Given the description of an element on the screen output the (x, y) to click on. 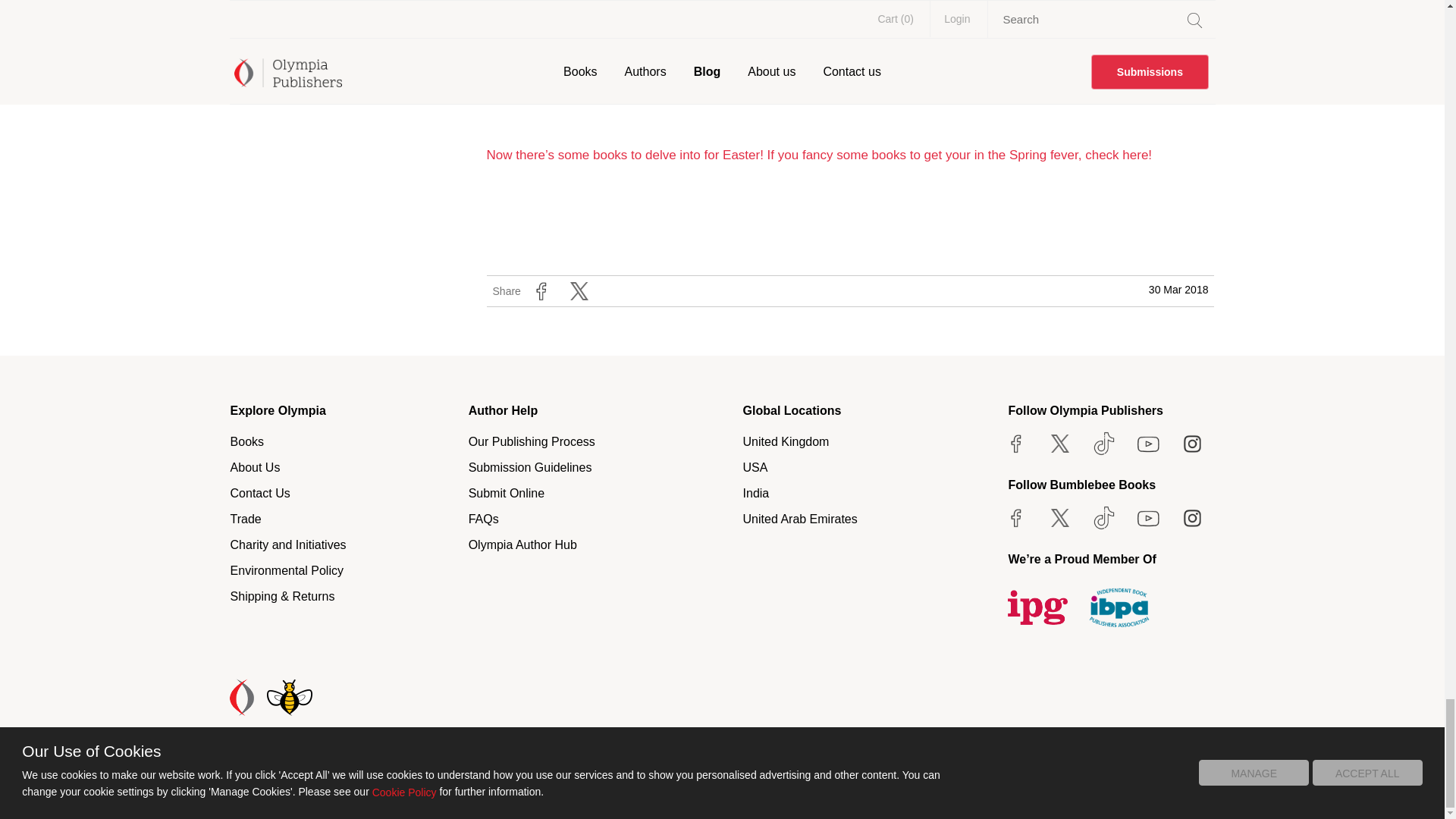
Follow us on Instagram (1191, 443)
Follow us on Twitter (1059, 443)
Bumblebee Youtube Channel (1148, 517)
Our Youtube Channel (1148, 443)
Follow us on TikTok (1103, 443)
Follow on Tiktok (1103, 517)
Follow Bumblebee on Instagram (1191, 517)
Like Us on Facebook (1015, 443)
Like Bumblebee on Facebook (1015, 517)
Follow Bumblebee on Twitter (1059, 517)
